Given the description of an element on the screen output the (x, y) to click on. 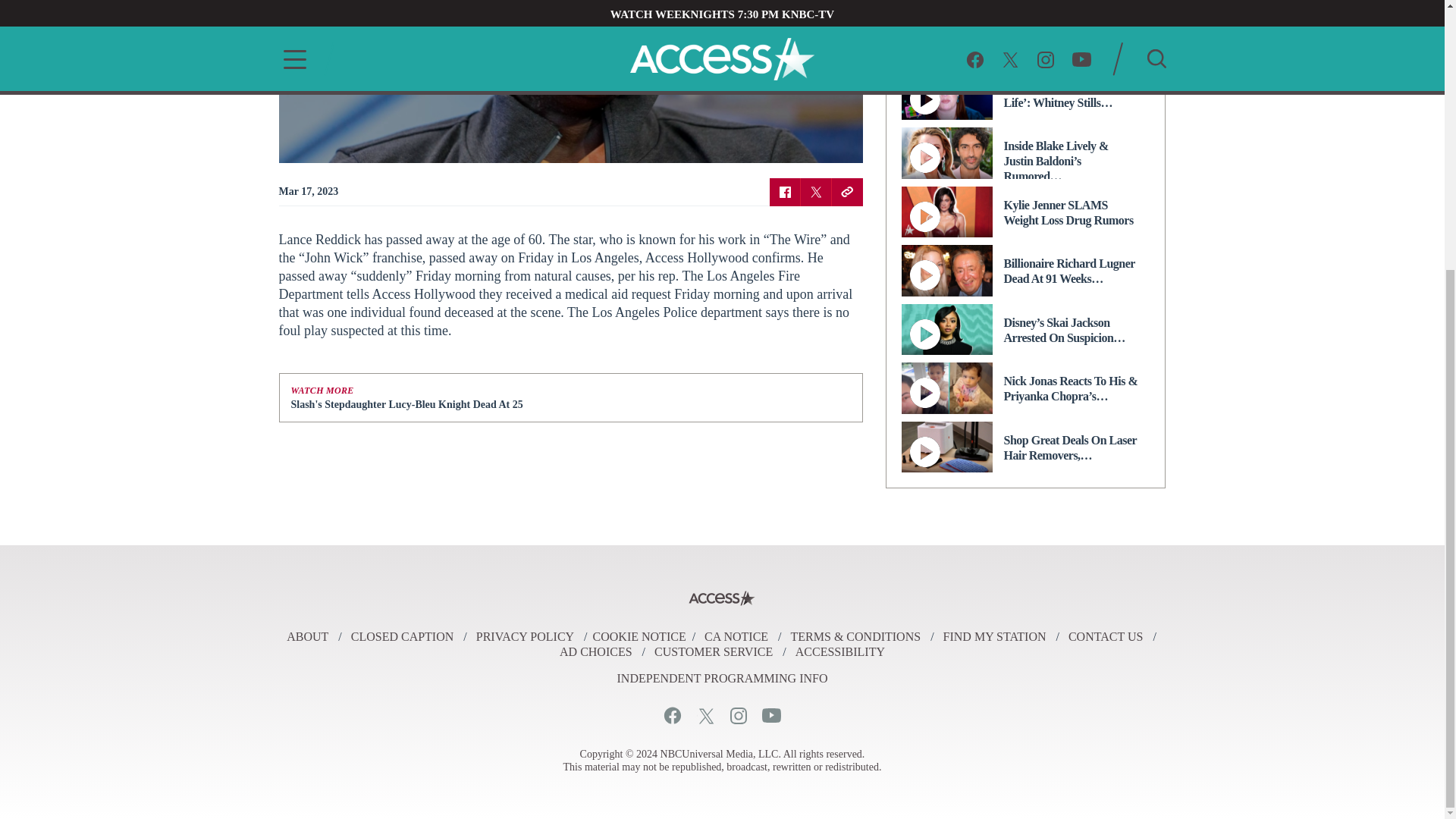
Copy URL (846, 191)
Twitter (704, 714)
Facebook (671, 714)
Instagram (737, 714)
Twitter (815, 191)
Youtube (770, 714)
Facebook (783, 191)
